Given the description of an element on the screen output the (x, y) to click on. 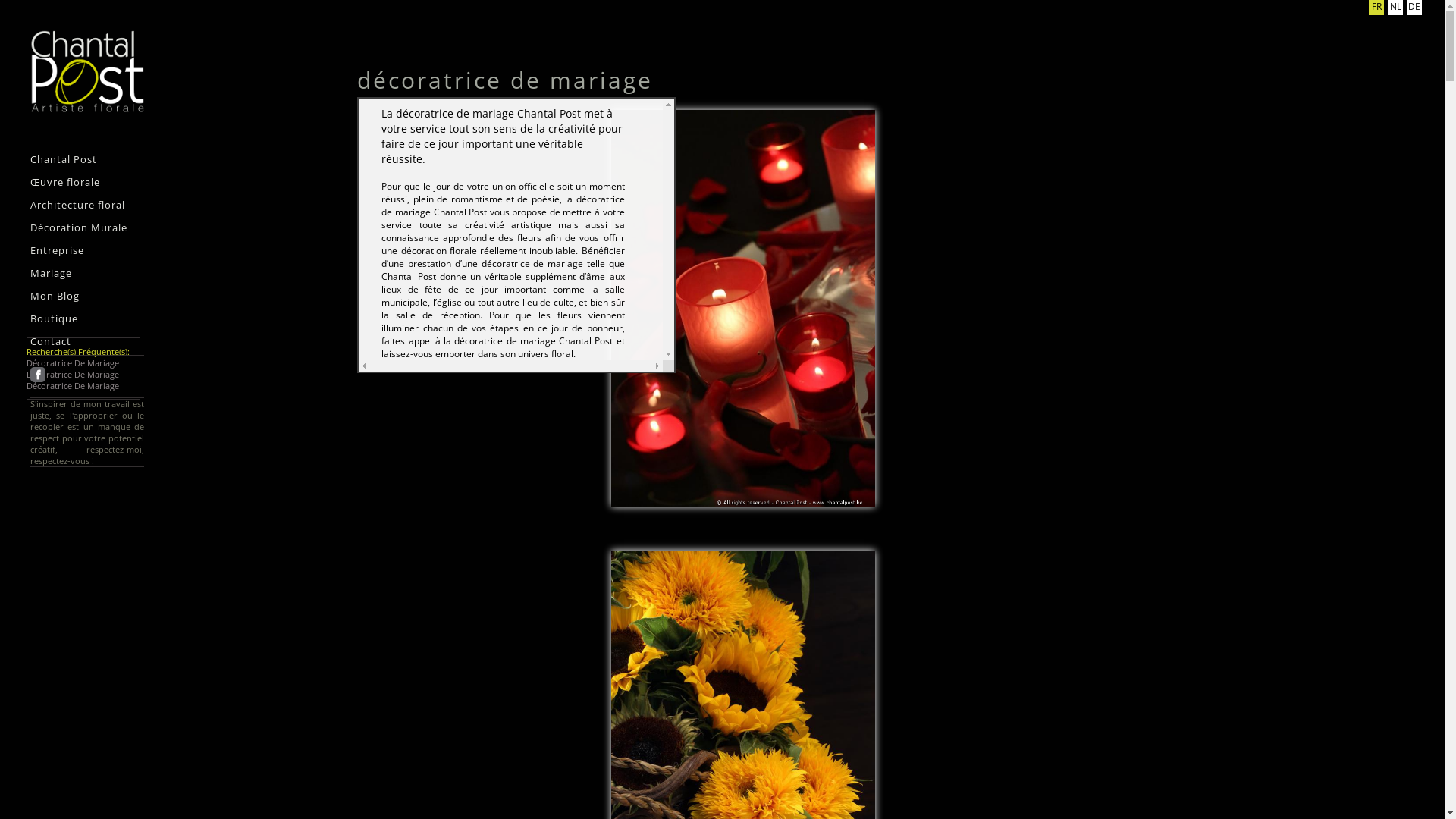
DE Element type: text (1413, 7)
Boutique Element type: text (87, 318)
Chantal Post Element type: text (87, 159)
NL Element type: text (1394, 7)
Mariage Element type: text (87, 272)
Mon Blog Element type: text (87, 295)
Entreprise Element type: text (87, 250)
Contact Element type: text (87, 341)
Architecture floral Element type: text (87, 204)
